Given the description of an element on the screen output the (x, y) to click on. 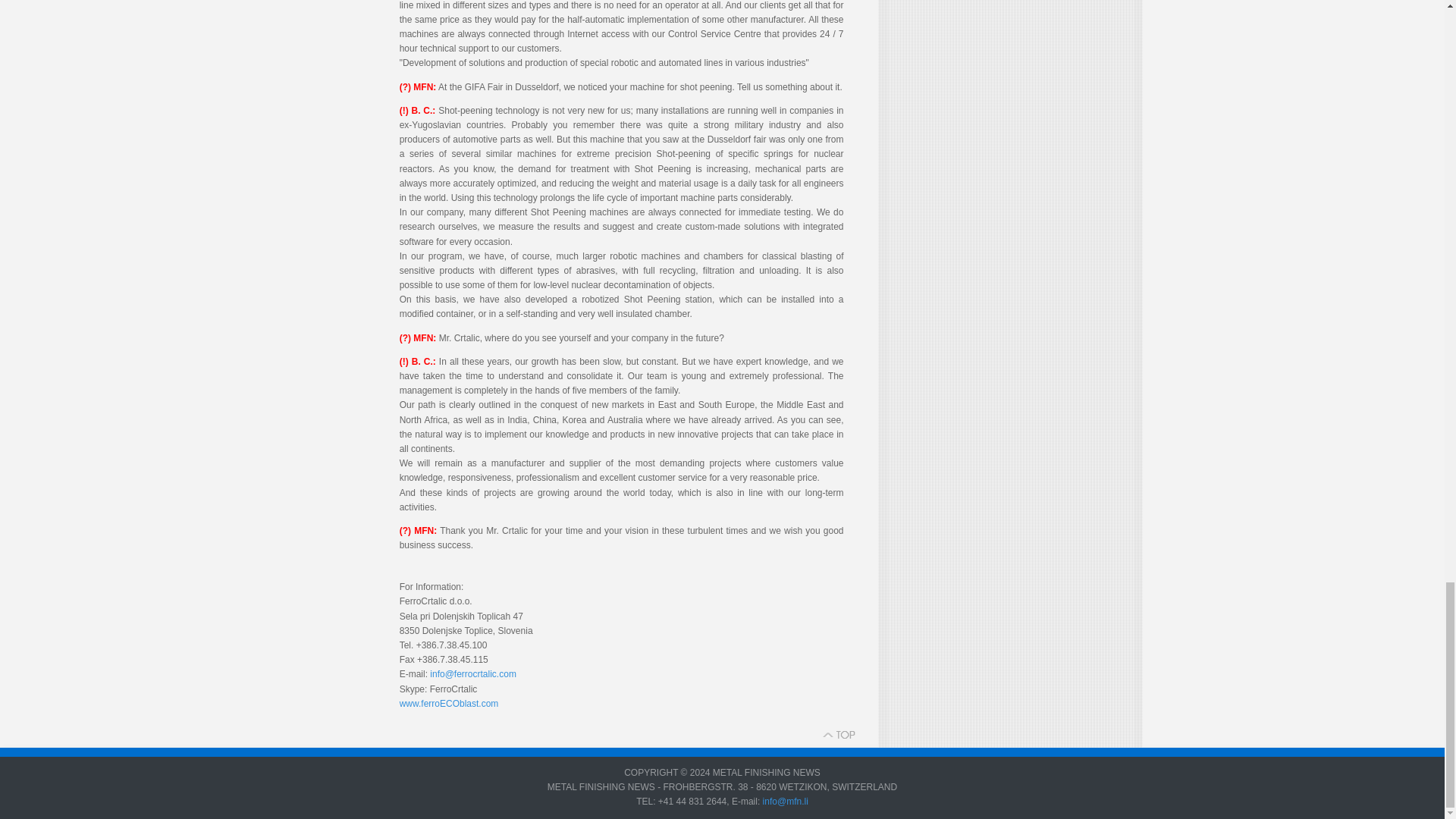
www.ferroECOblast.com (448, 703)
